Given the description of an element on the screen output the (x, y) to click on. 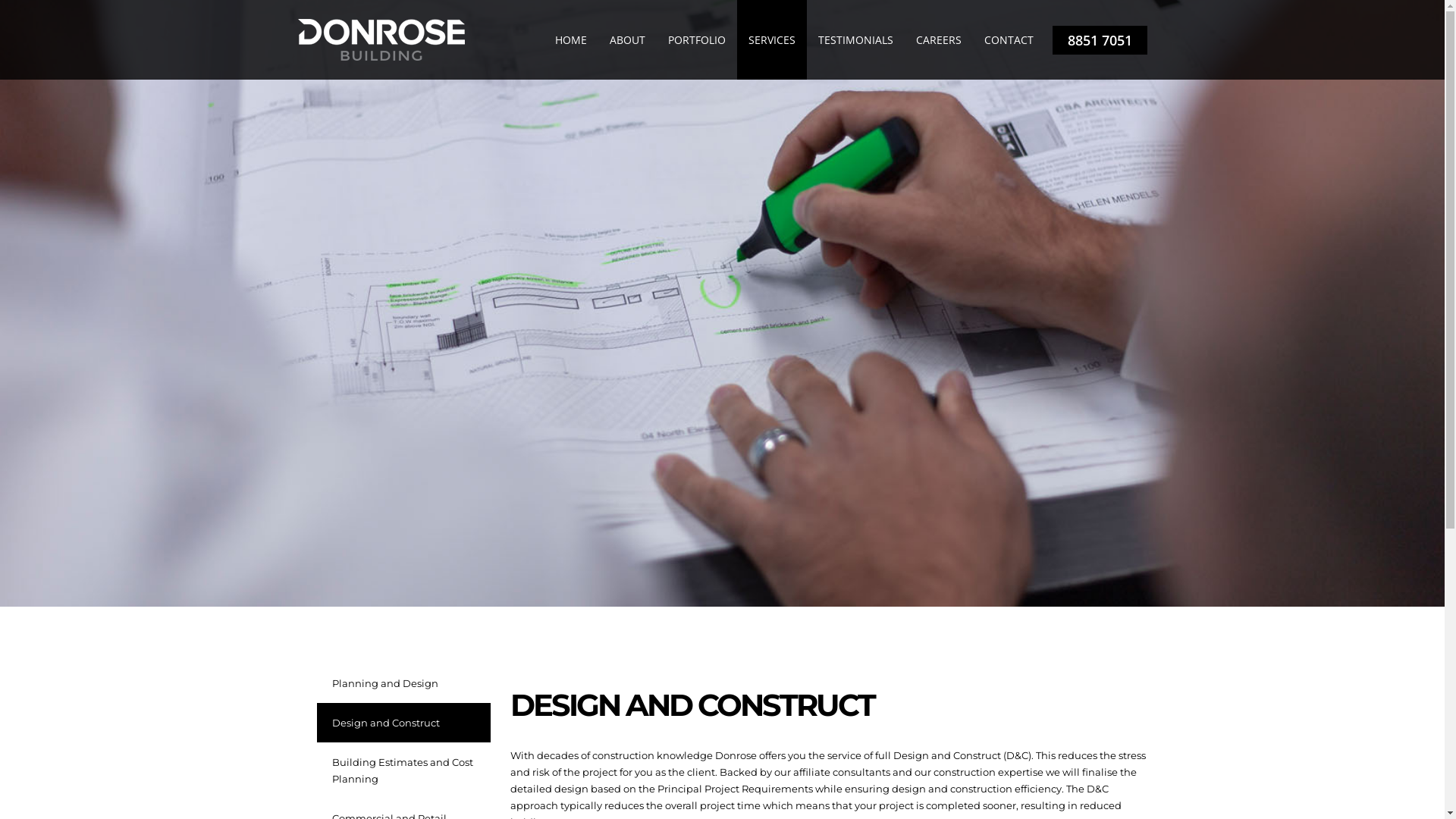
PORTFOLIO Element type: text (696, 39)
ABOUT Element type: text (626, 39)
SERVICES Element type: text (771, 39)
Planning and Design Element type: text (403, 682)
Design and Construct Element type: text (403, 722)
CAREERS Element type: text (937, 39)
HOME Element type: text (569, 39)
TESTIMONIALS Element type: text (855, 39)
8851 7051 Element type: text (1099, 39)
Building Estimates and Cost Planning Element type: text (403, 770)
CONTACT Element type: text (1008, 39)
